Given the description of an element on the screen output the (x, y) to click on. 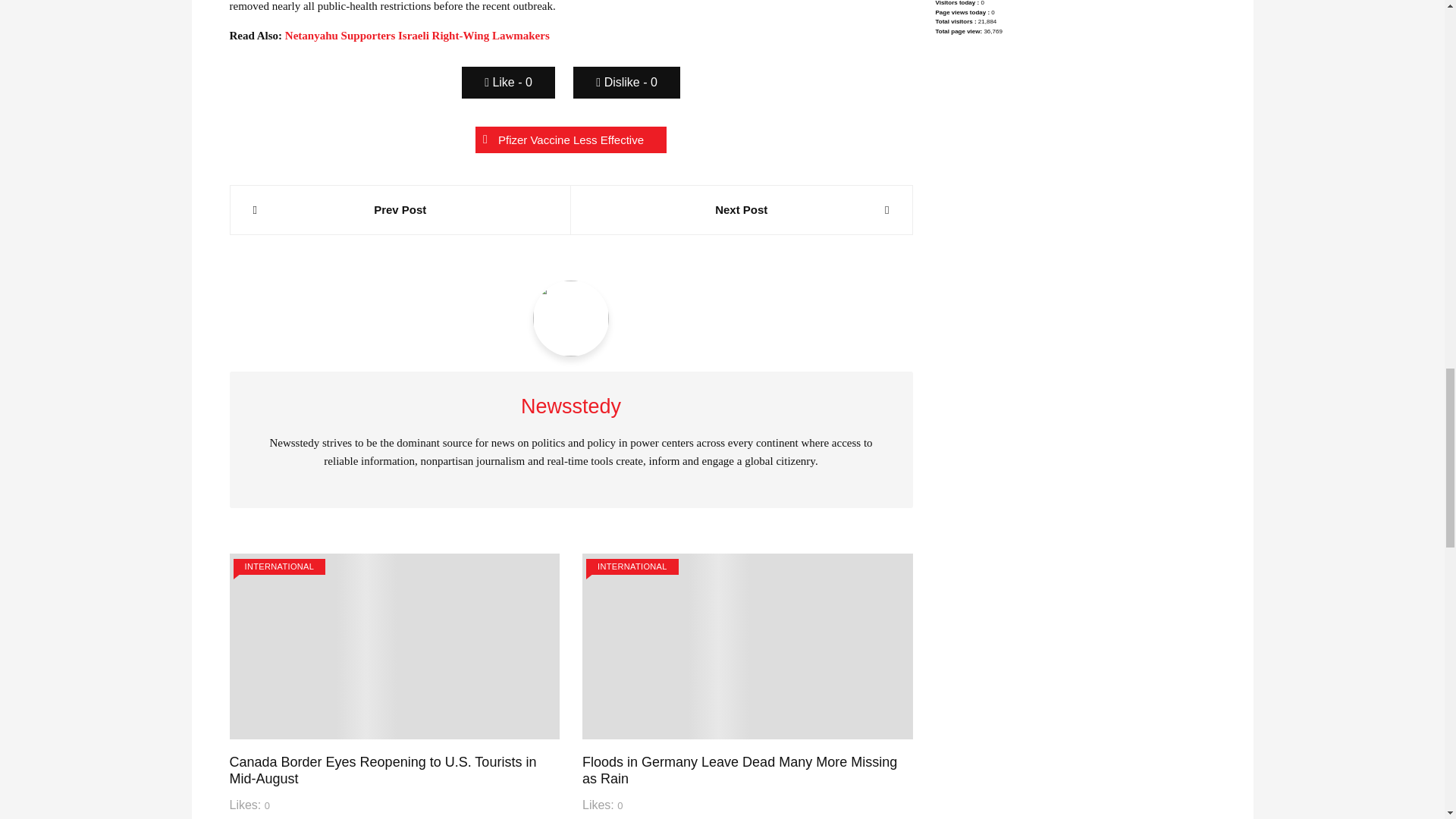
Floods in Germany Leave Dead Many More Missing as Rain (739, 770)
Like - 0 (507, 82)
Pfizer Vaccine Less Effective (571, 139)
Prev Post (400, 209)
INTERNATIONAL (279, 566)
INTERNATIONAL (632, 566)
Dislike - 0 (626, 82)
Next Post (741, 209)
Netanyahu Supporters Israeli Right-Wing Lawmakers (417, 35)
Canada Border Eyes Reopening to U.S. Tourists in Mid-August (381, 770)
